Given the description of an element on the screen output the (x, y) to click on. 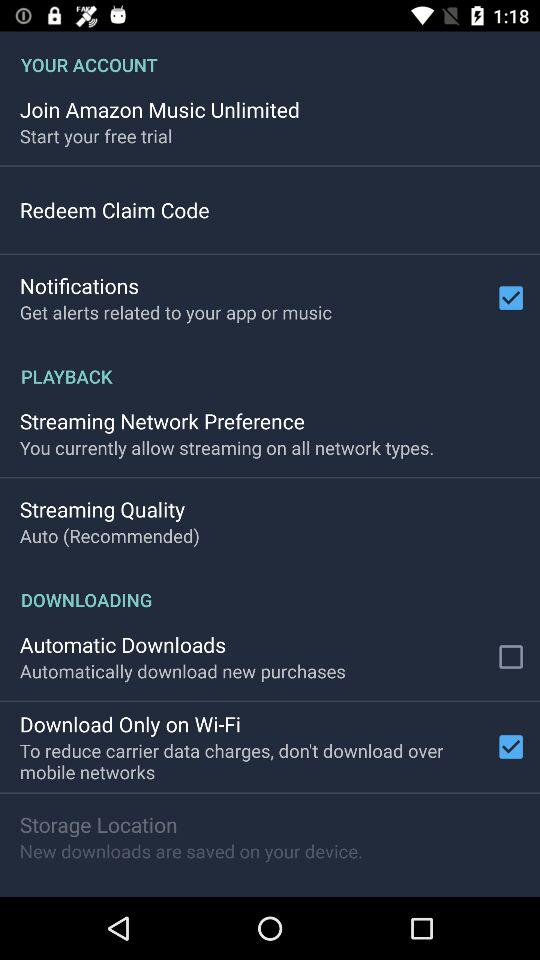
open the item below the notifications item (175, 312)
